Given the description of an element on the screen output the (x, y) to click on. 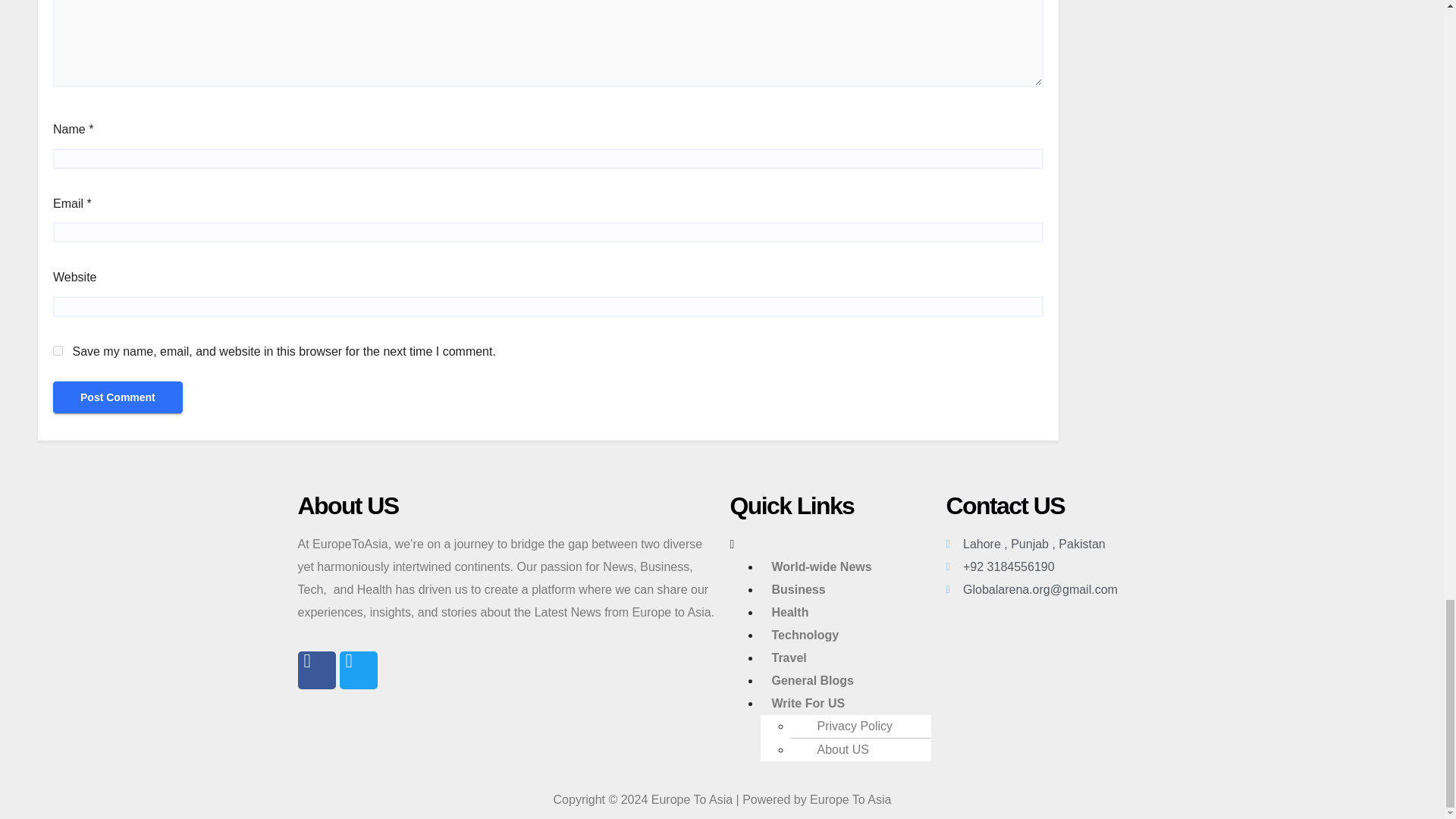
yes (57, 350)
Post Comment (117, 397)
